Given the description of an element on the screen output the (x, y) to click on. 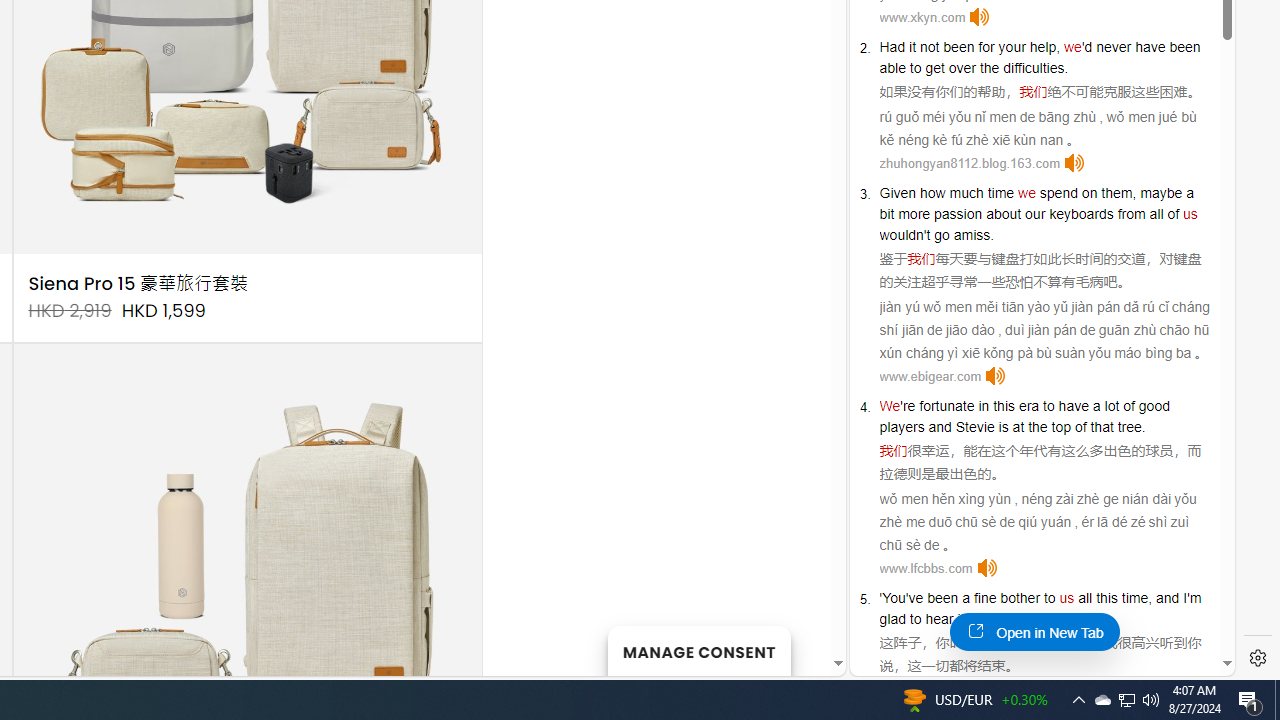
zhuhongyan8112.blog.163.com (969, 163)
I (1184, 597)
going (994, 619)
about (1003, 213)
